Given the description of an element on the screen output the (x, y) to click on. 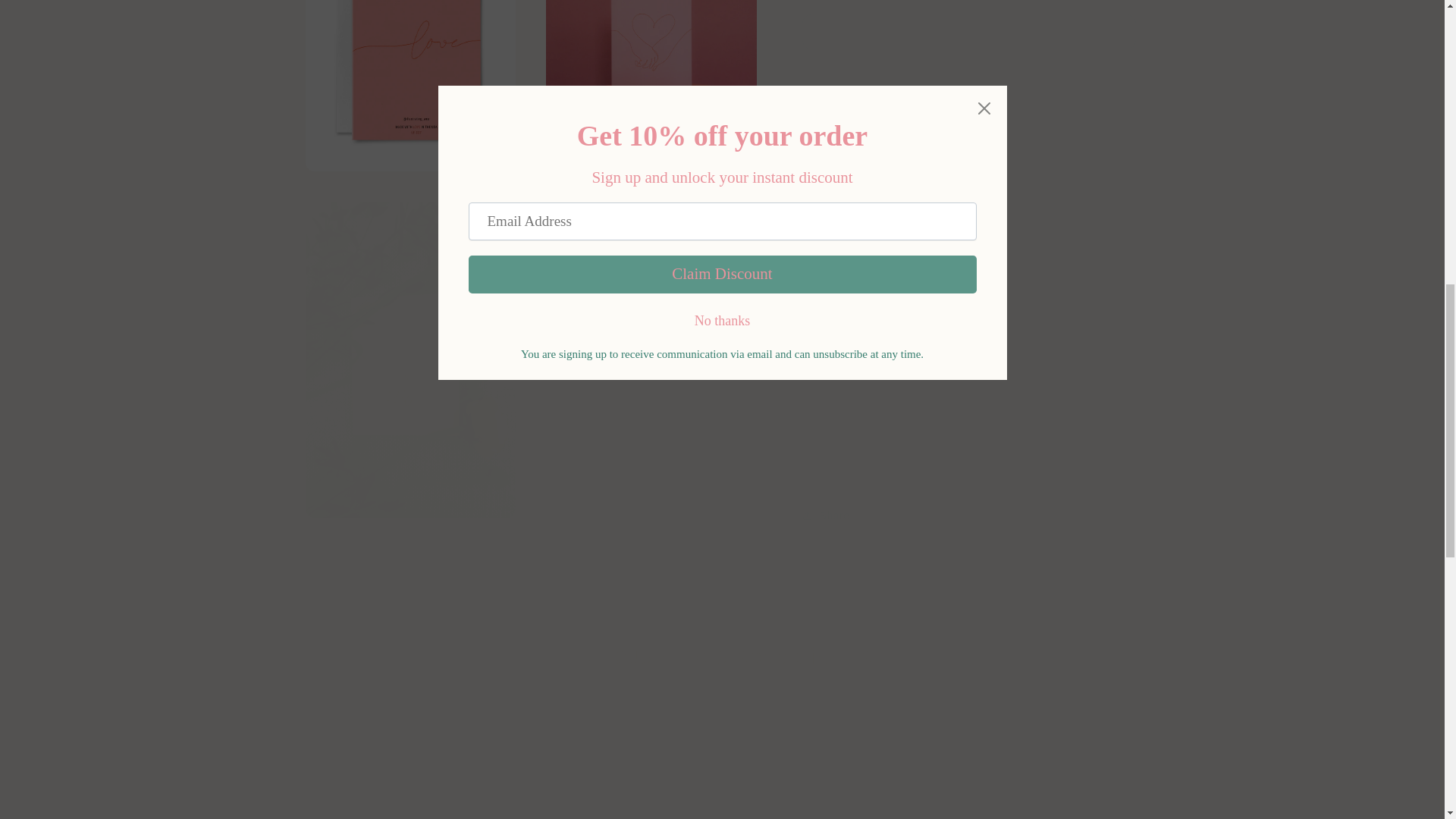
Open media 2 in modal (409, 78)
Open media 3 in modal (651, 78)
